Given the description of an element on the screen output the (x, y) to click on. 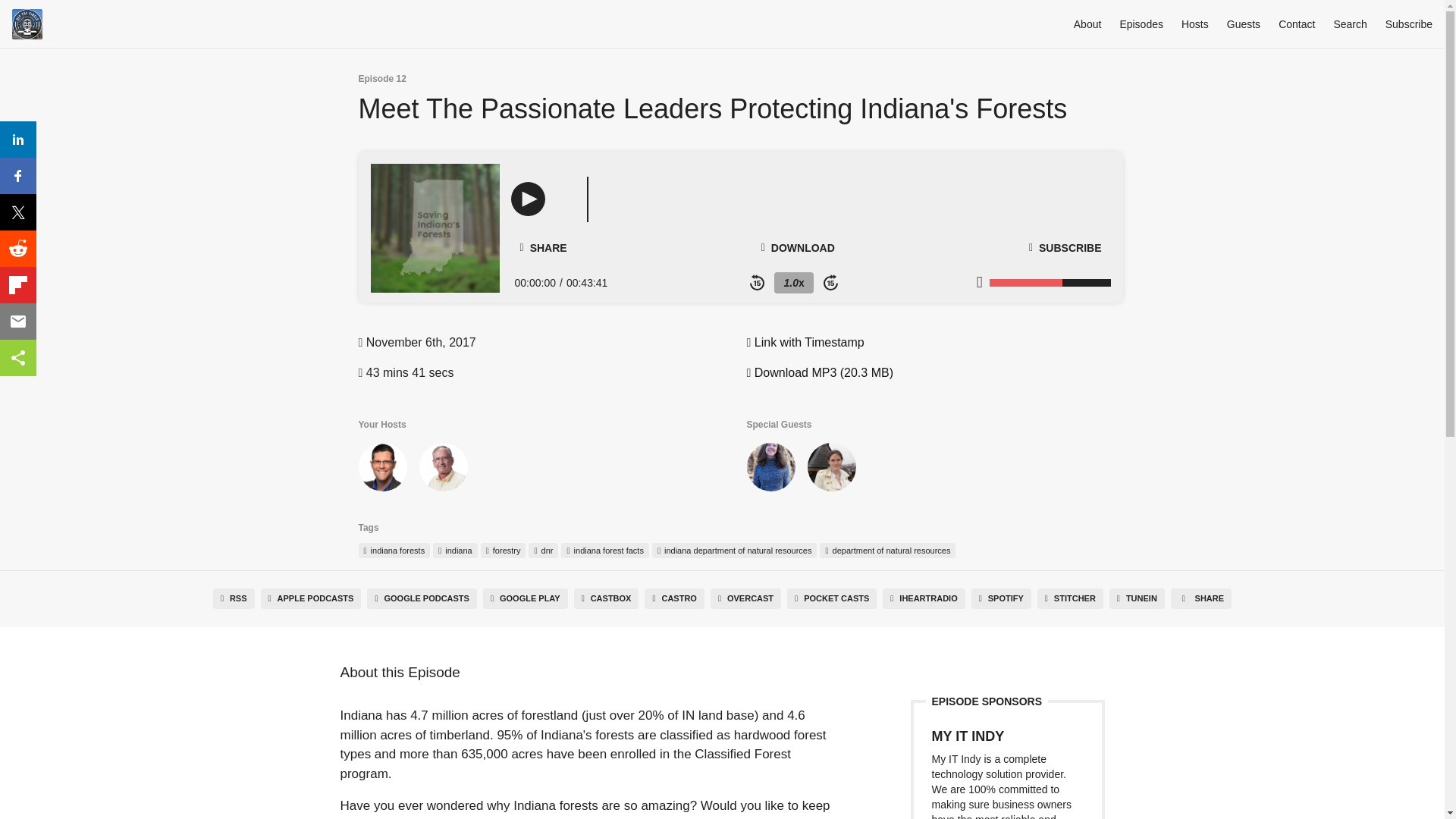
Episodes (1141, 24)
indiana department of natural resources (734, 549)
Ryan Grimes (382, 470)
indiana forest facts (603, 549)
indiana (454, 549)
APPLE PODCASTS (310, 598)
forestry (502, 549)
Hosts (1194, 24)
Contact (1296, 24)
GOOGLE PODCASTS (421, 598)
department of natural resources (887, 549)
Guests (1243, 24)
DOWNLOAD (798, 247)
1.0x (793, 282)
RSS (233, 598)
